Given the description of an element on the screen output the (x, y) to click on. 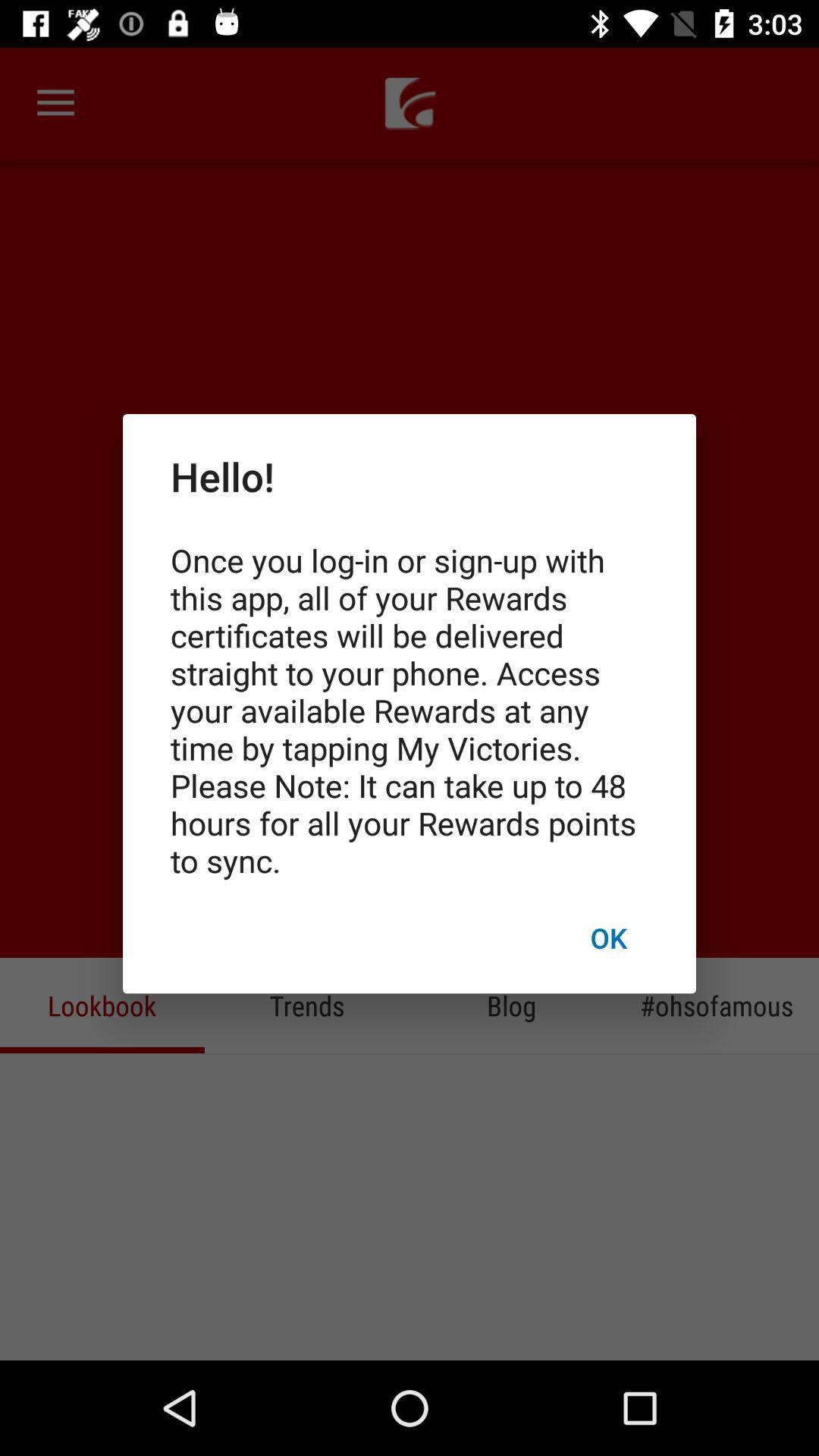
click the ok item (608, 937)
